Given the description of an element on the screen output the (x, y) to click on. 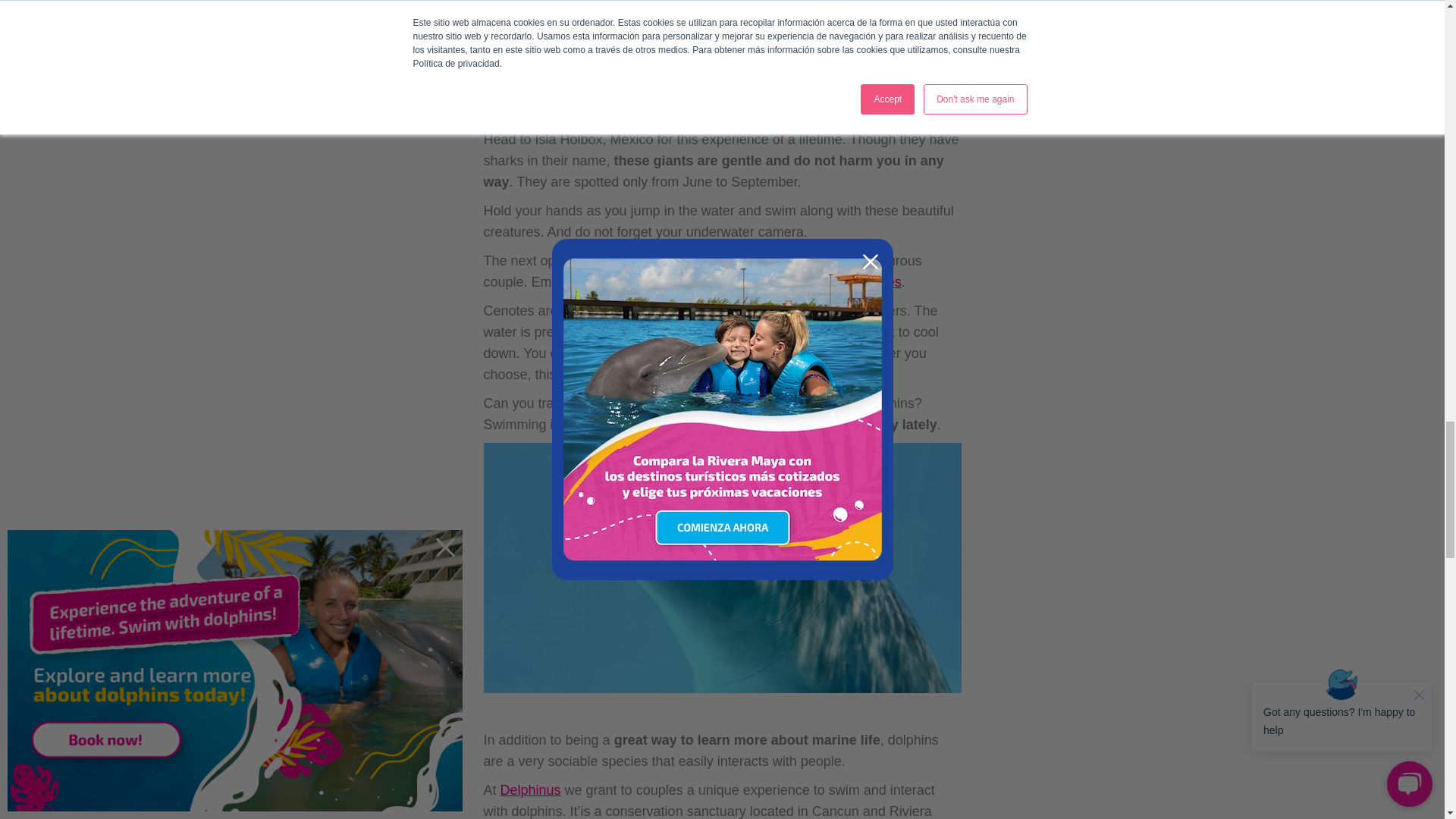
diving in the cenotes (839, 281)
Delphinus (530, 789)
